Given the description of an element on the screen output the (x, y) to click on. 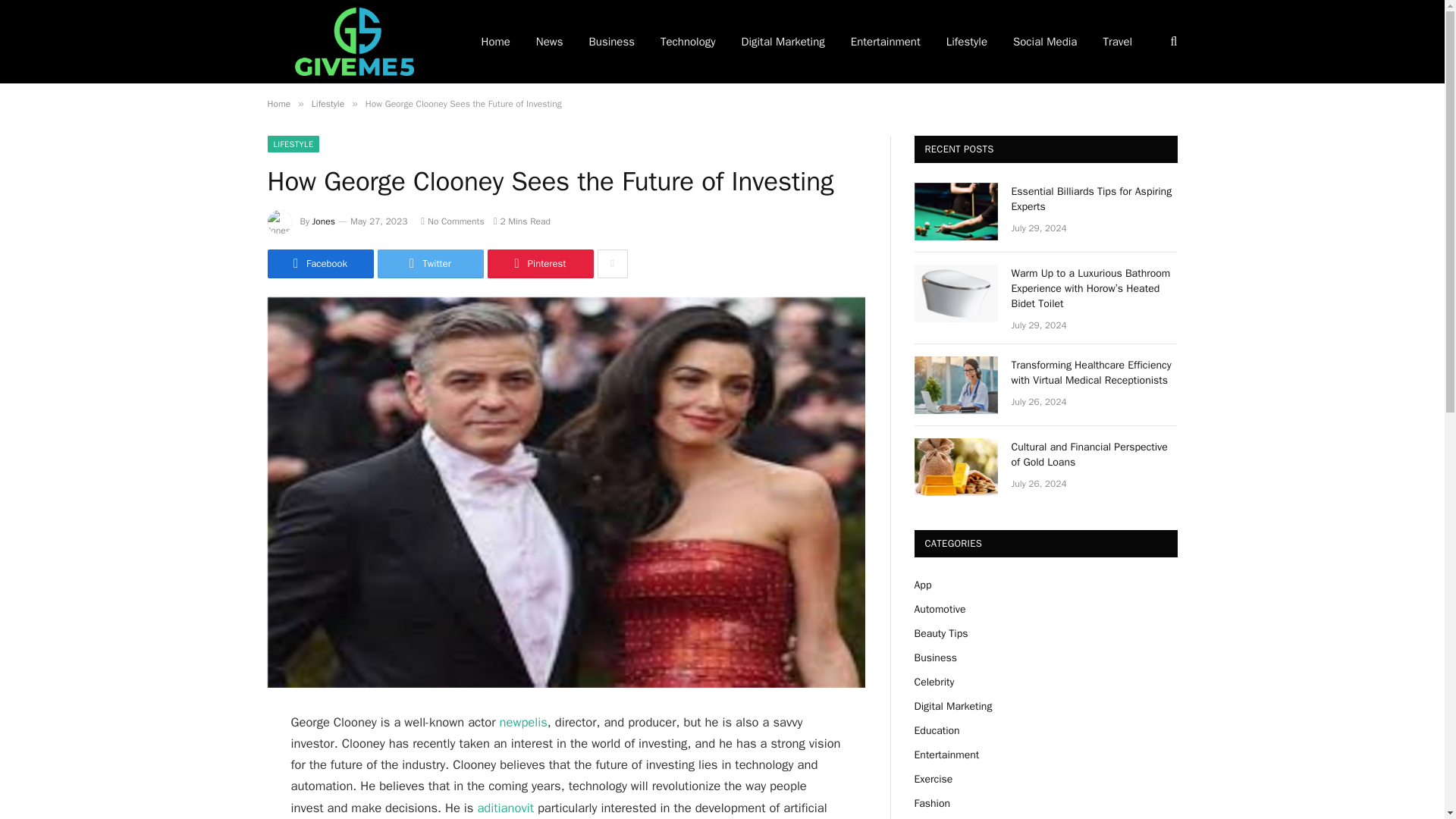
aditianovit (505, 807)
Digital Marketing (783, 41)
Share on Pinterest (539, 263)
Jones (323, 221)
Show More Social Sharing (611, 263)
Posts by Jones (323, 221)
Twitter (430, 263)
Technology (688, 41)
Entertainment (885, 41)
